Given the description of an element on the screen output the (x, y) to click on. 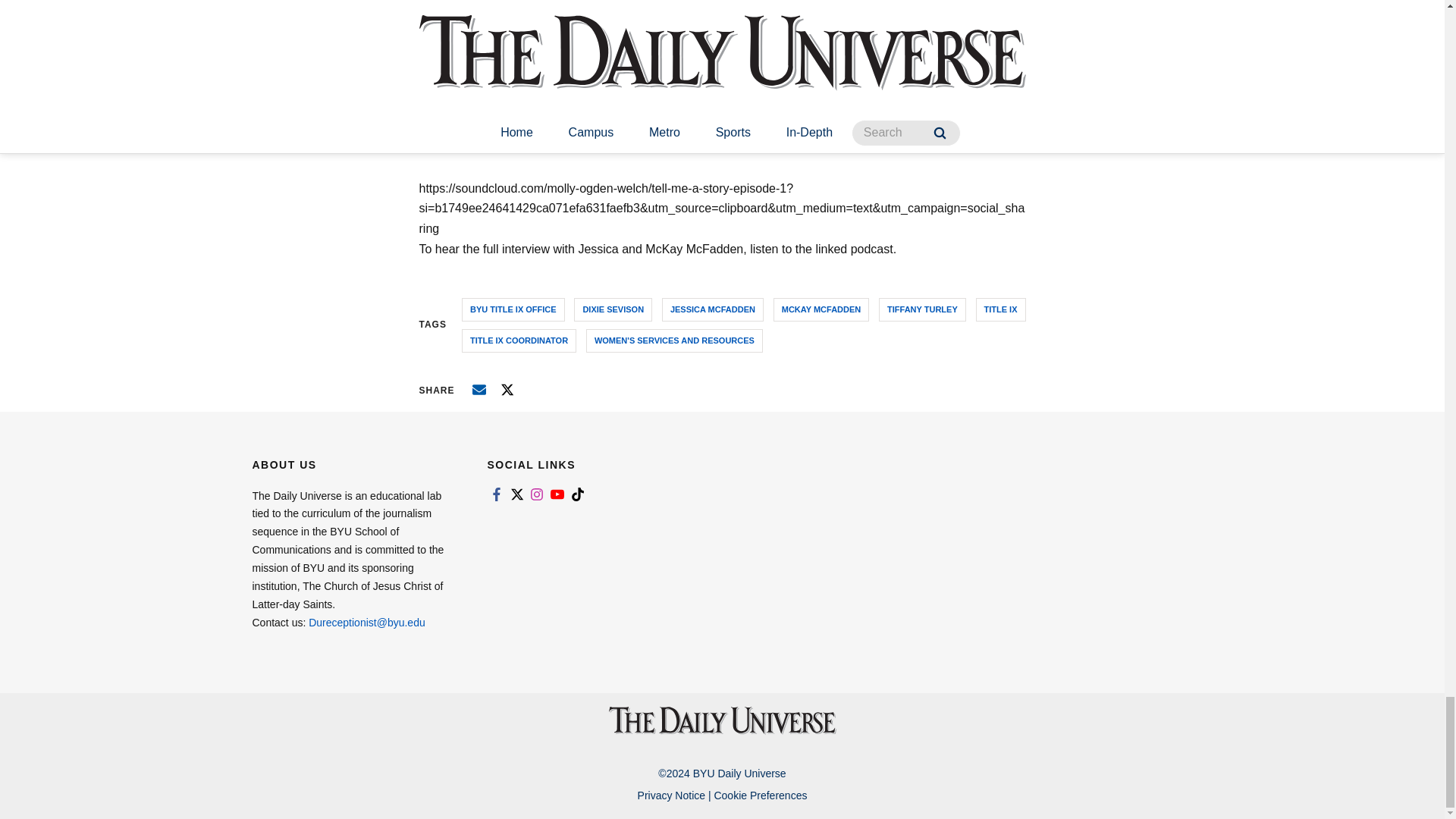
Cookie Preferences (759, 795)
TITLE IX (1000, 309)
Link to youtube (557, 494)
Link to instagram (536, 494)
JESSICA MCFADDEN (712, 309)
Link to twitter (515, 494)
MCKAY MCFADDEN (821, 309)
Email (478, 389)
BYU TITLE IX OFFICE (512, 309)
Link to facebook (495, 494)
